Given the description of an element on the screen output the (x, y) to click on. 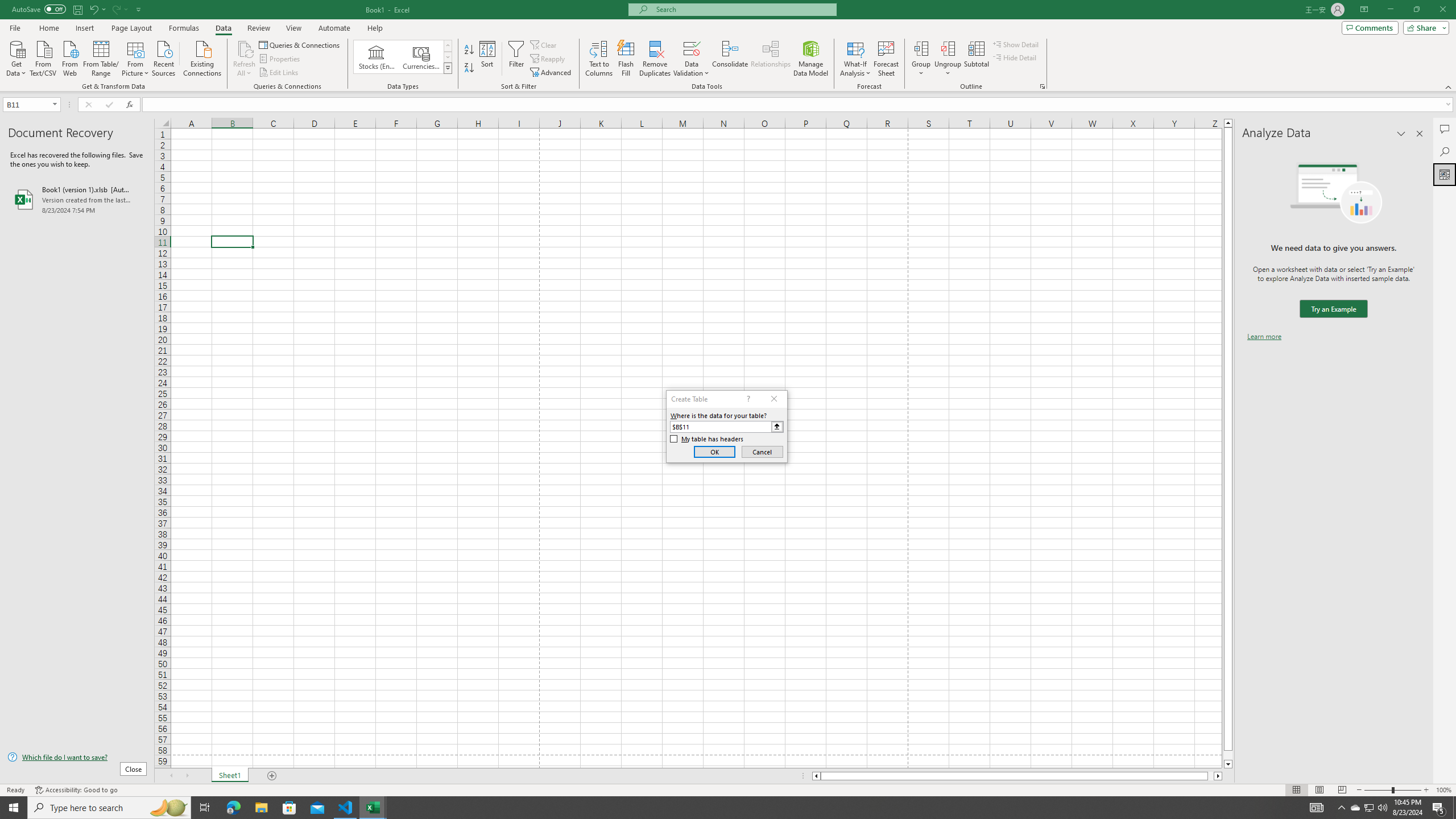
Sort Z to A (469, 67)
Filter (515, 58)
Queries & Connections (300, 44)
Analyze Data (1444, 173)
